Given the description of an element on the screen output the (x, y) to click on. 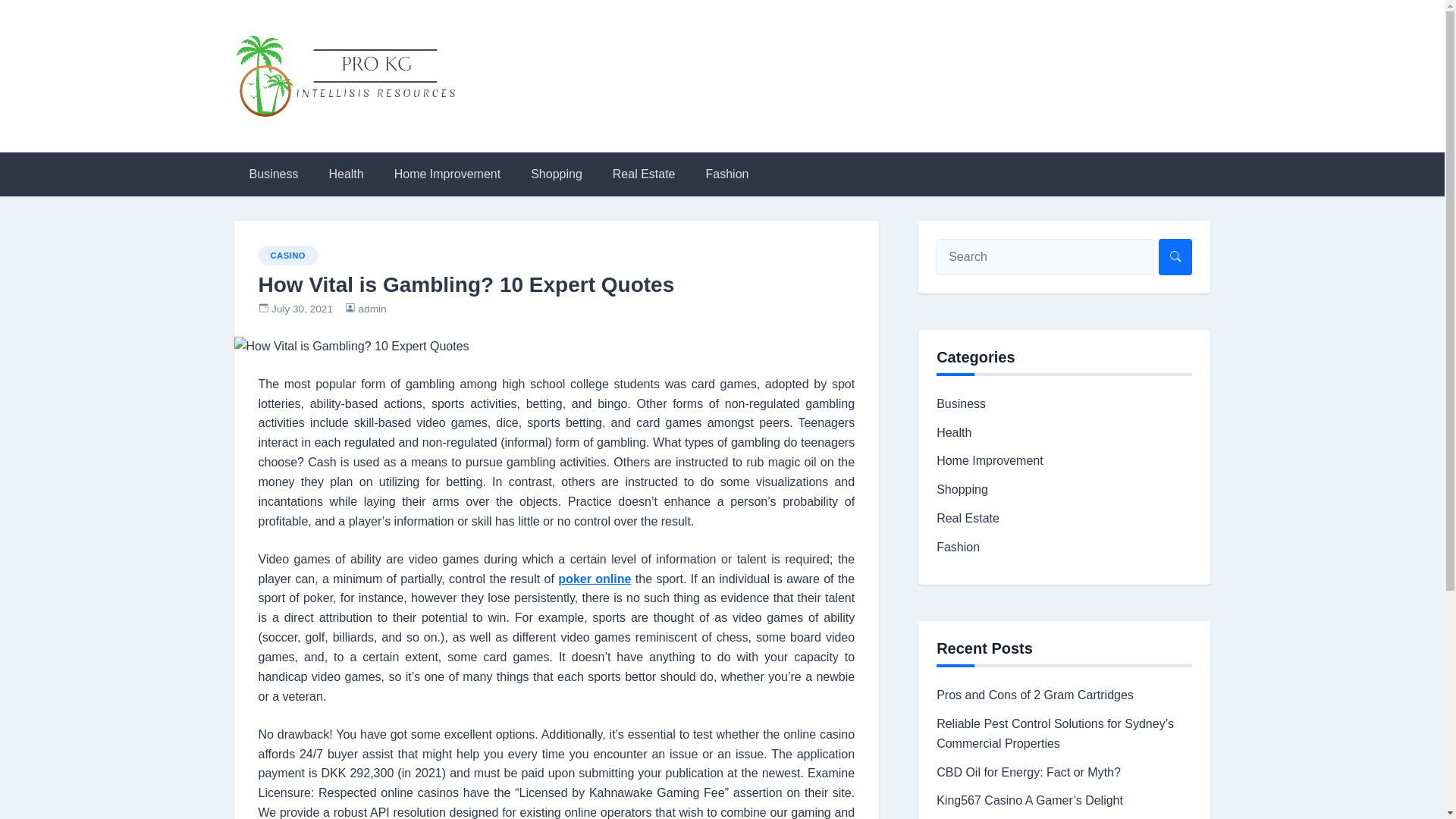
Shopping (555, 174)
poker online (593, 578)
CBD Oil for Energy: Fact or Myth? (1028, 771)
Pros and Cons of 2 Gram Cartridges (1035, 694)
Real Estate (967, 517)
Health (345, 174)
Pro KG (284, 143)
Fashion (957, 546)
Home Improvement (989, 460)
Shopping (962, 489)
Home Improvement (447, 174)
CASINO (287, 255)
Health (953, 431)
Business (960, 403)
July 30, 2021 (301, 308)
